Given the description of an element on the screen output the (x, y) to click on. 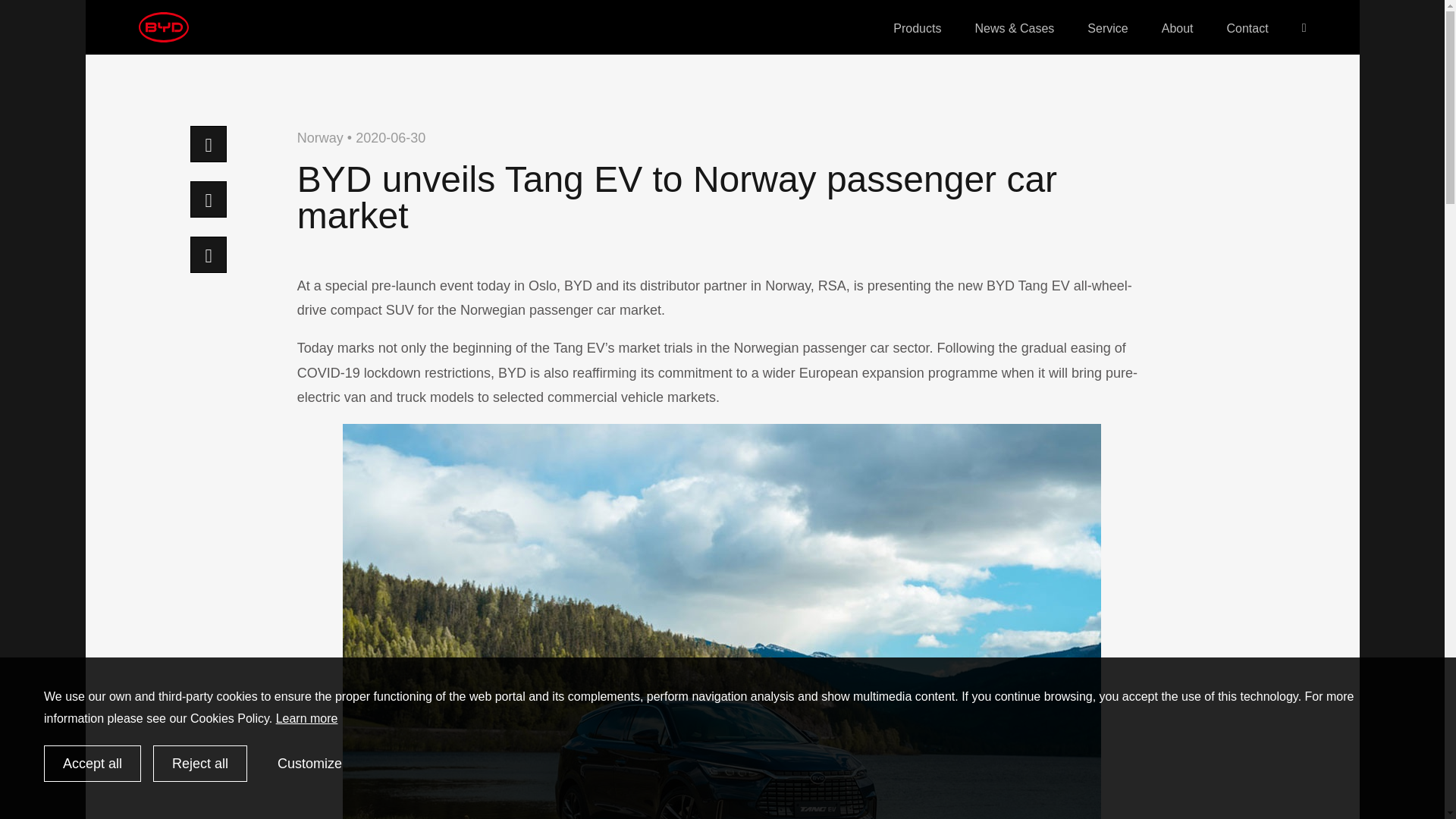
Learn more (306, 717)
